Given the description of an element on the screen output the (x, y) to click on. 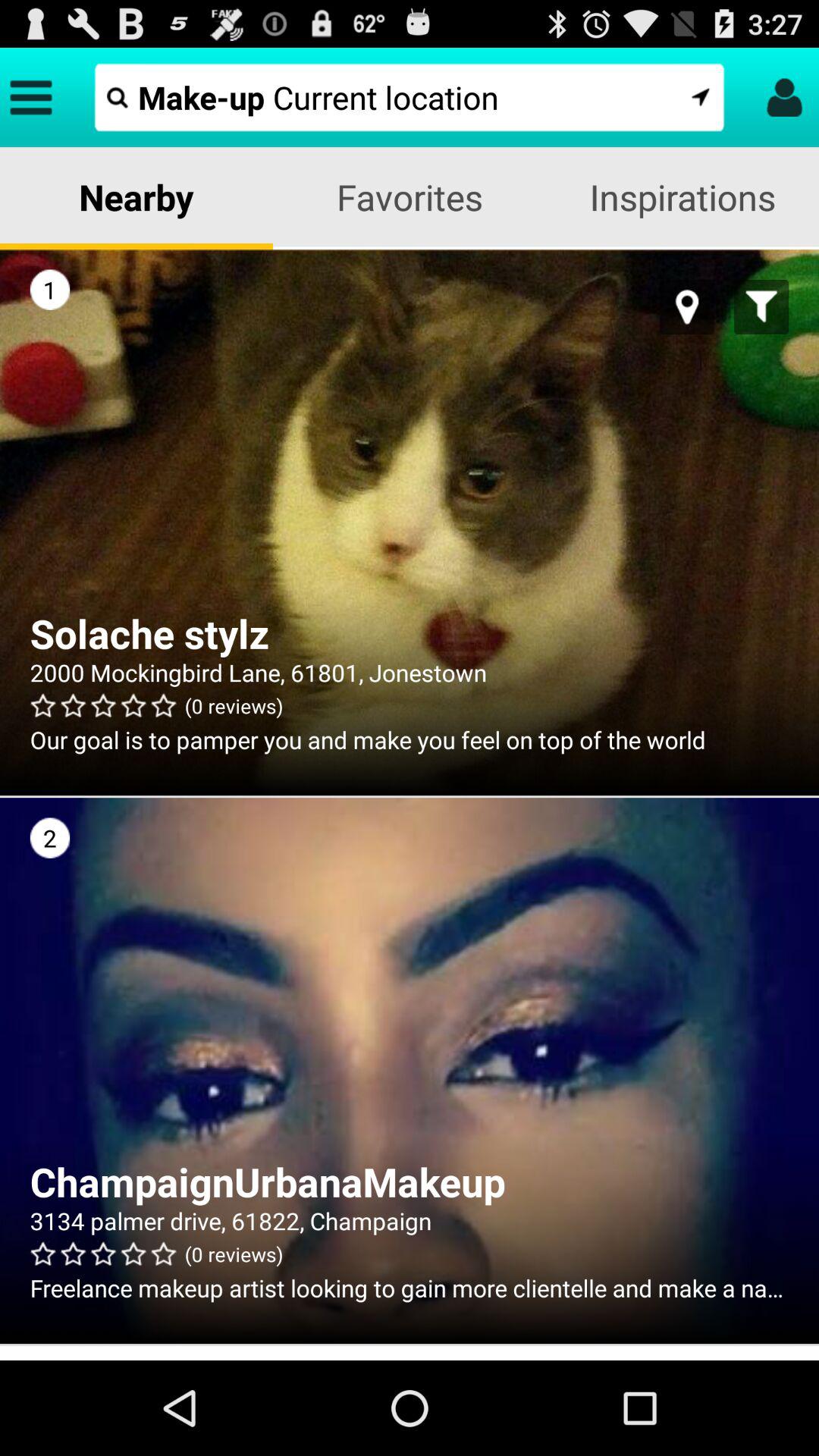
tap nearby item (136, 196)
